Given the description of an element on the screen output the (x, y) to click on. 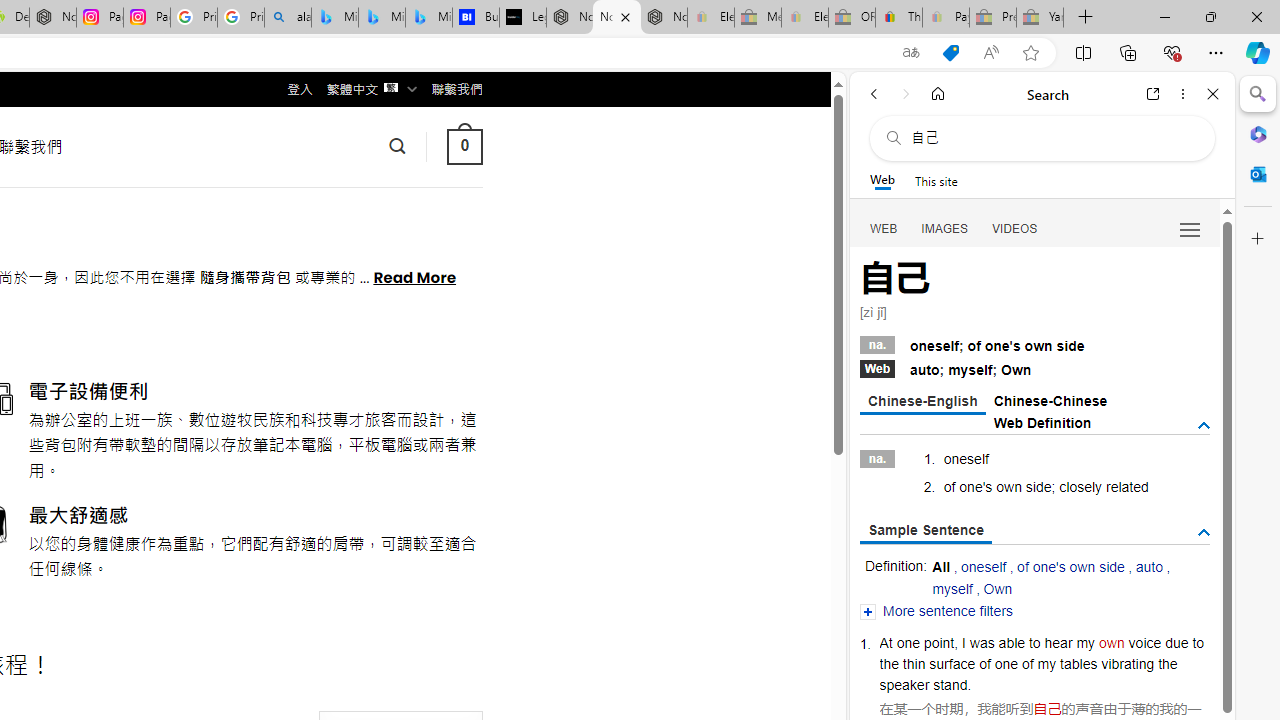
vibrating (1127, 663)
thin (913, 663)
Webauto; myself; Own (1034, 367)
